Given the description of an element on the screen output the (x, y) to click on. 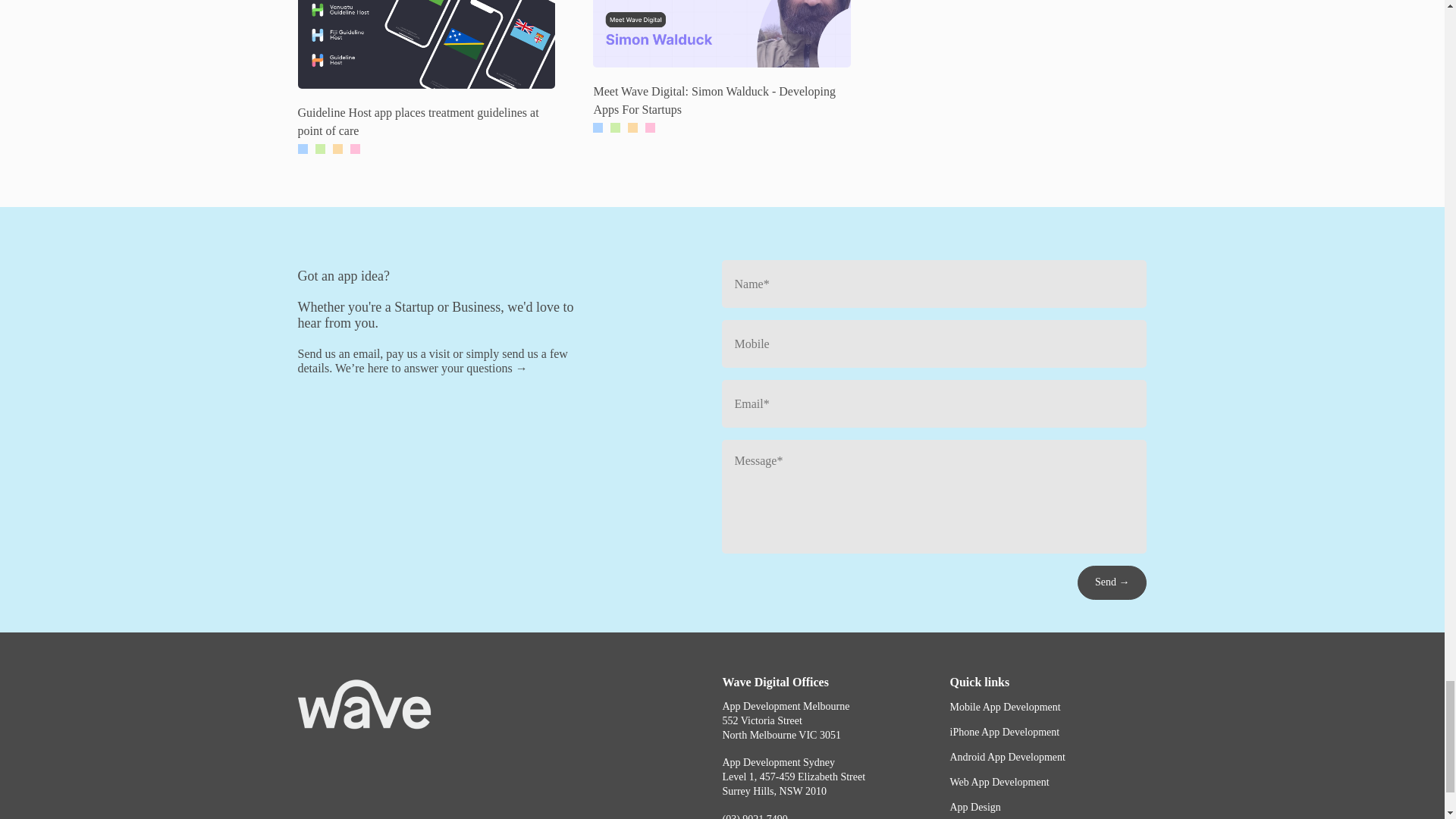
Wave Digital (793, 776)
Give Us A Call (828, 815)
Wave Digital (785, 721)
